Given the description of an element on the screen output the (x, y) to click on. 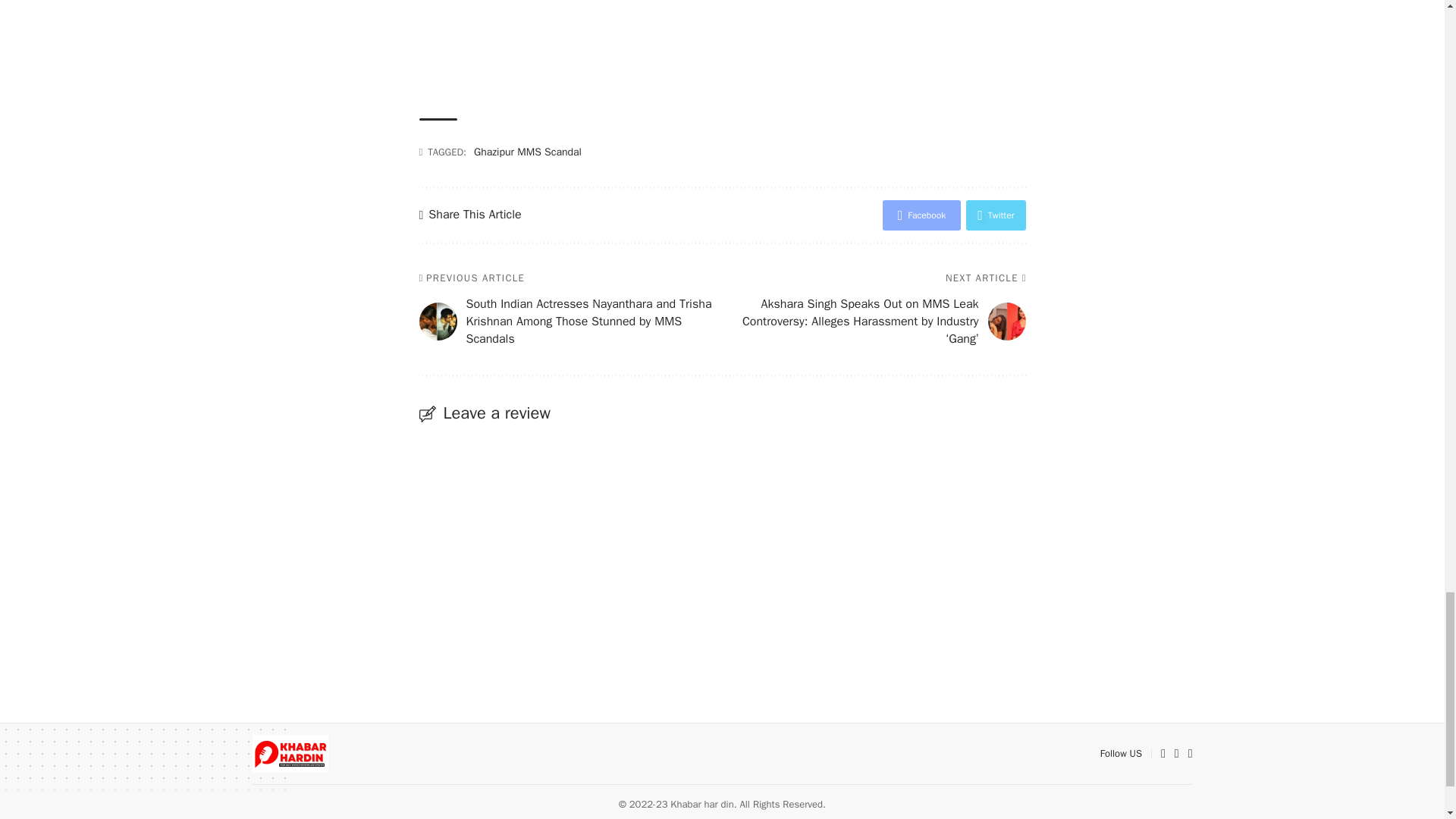
3rd party ad content (722, 44)
Facebook (921, 214)
Khabar Har Din (289, 753)
Twitter (995, 214)
Ghazipur MMS Scandal (527, 151)
